Given the description of an element on the screen output the (x, y) to click on. 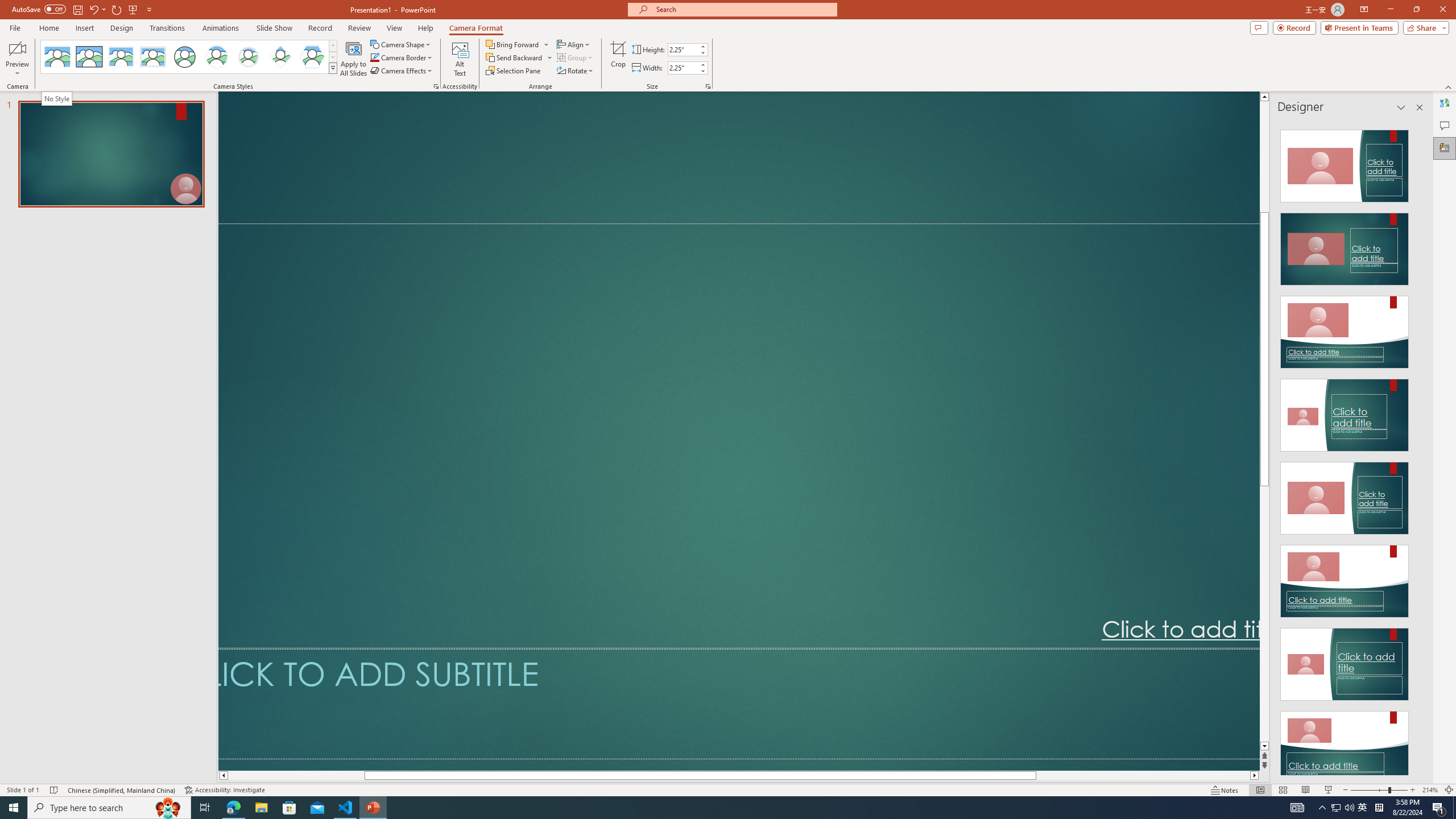
Bring Forward (517, 44)
Send Backward (514, 56)
No Style (57, 98)
Cameo Width (682, 67)
